Given the description of an element on the screen output the (x, y) to click on. 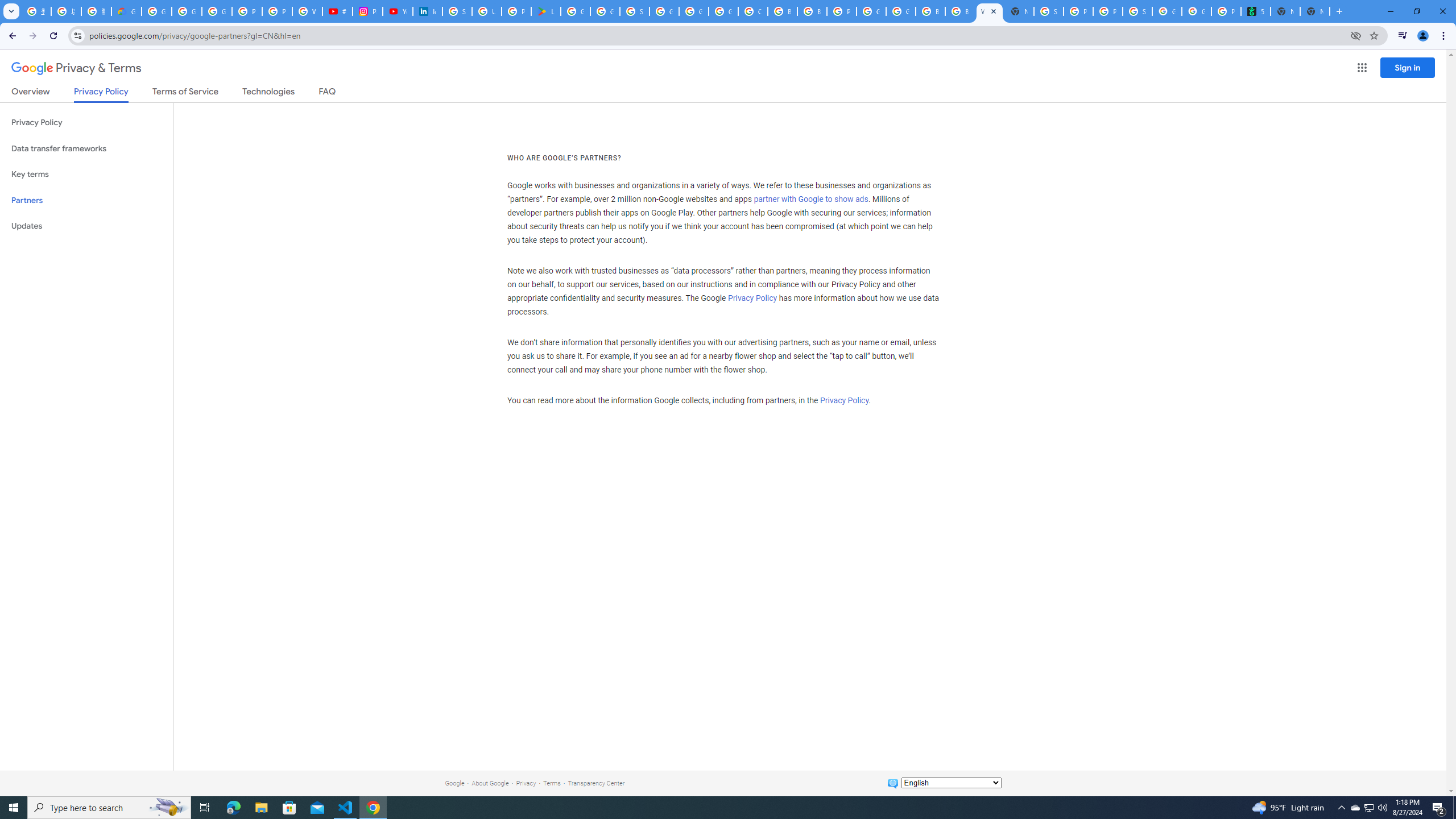
Technologies (268, 93)
Terms (551, 783)
Privacy (525, 783)
Google (454, 783)
Sign in (1407, 67)
Terms of Service (184, 93)
